Given the description of an element on the screen output the (x, y) to click on. 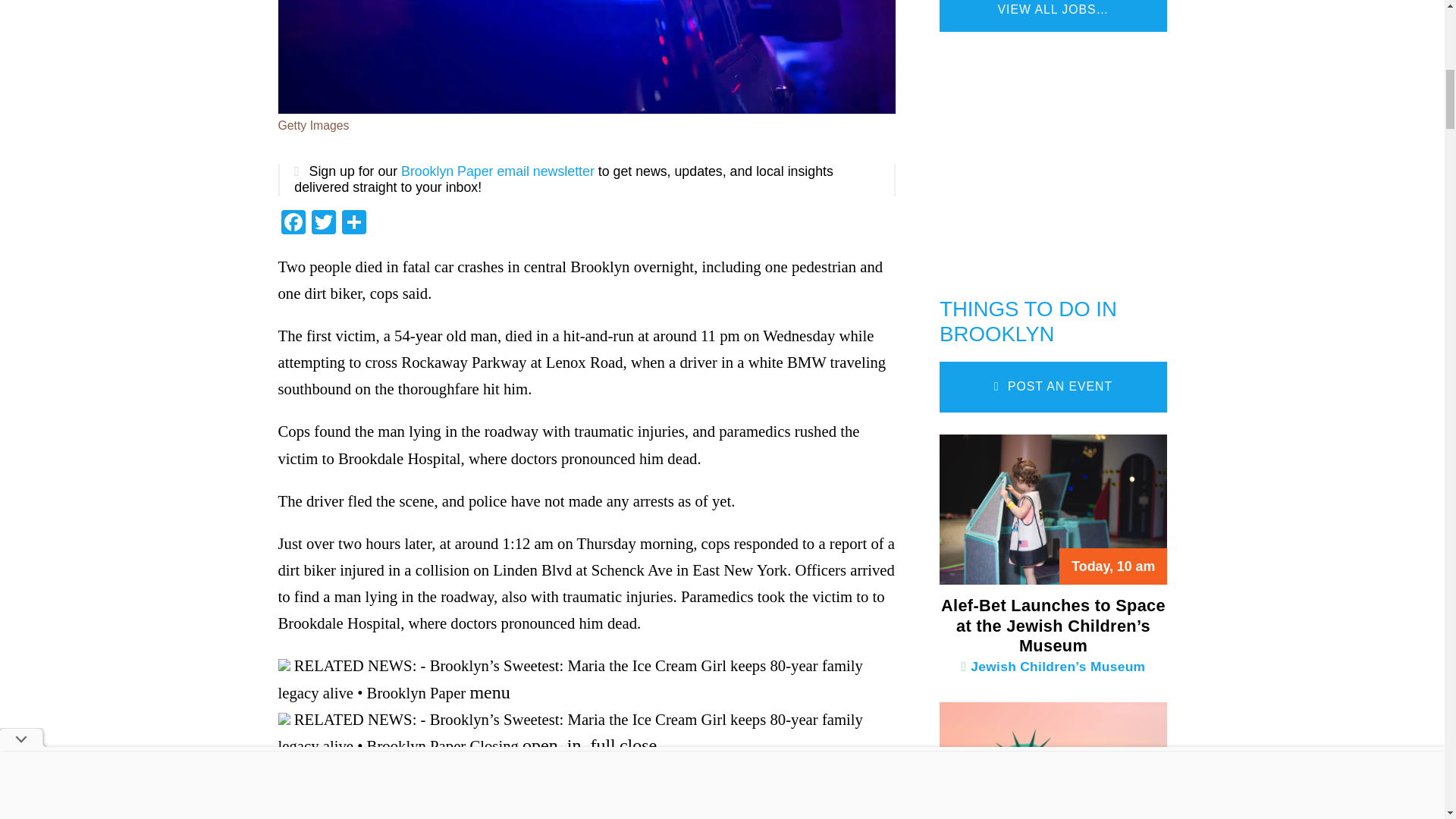
Facebook (292, 223)
